Given the description of an element on the screen output the (x, y) to click on. 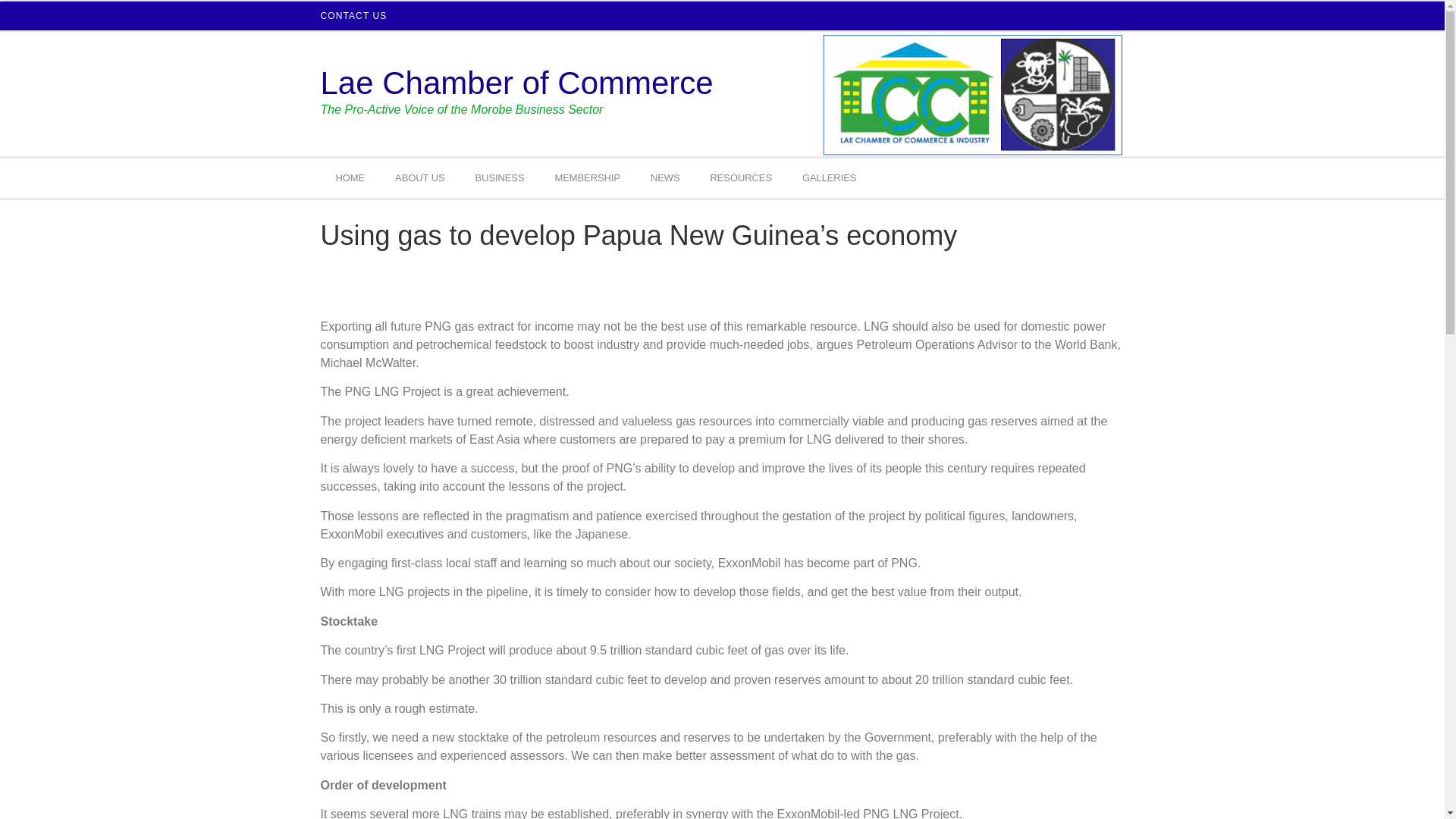
BUSINESS (500, 178)
Lae Chamber of Commerce (516, 82)
MEMBERSHIP (586, 178)
ABOUT US (420, 178)
NEWS (664, 178)
CONTACT US (352, 15)
GALLERIES (828, 178)
RESOURCES (740, 178)
HOME (350, 178)
